Given the description of an element on the screen output the (x, y) to click on. 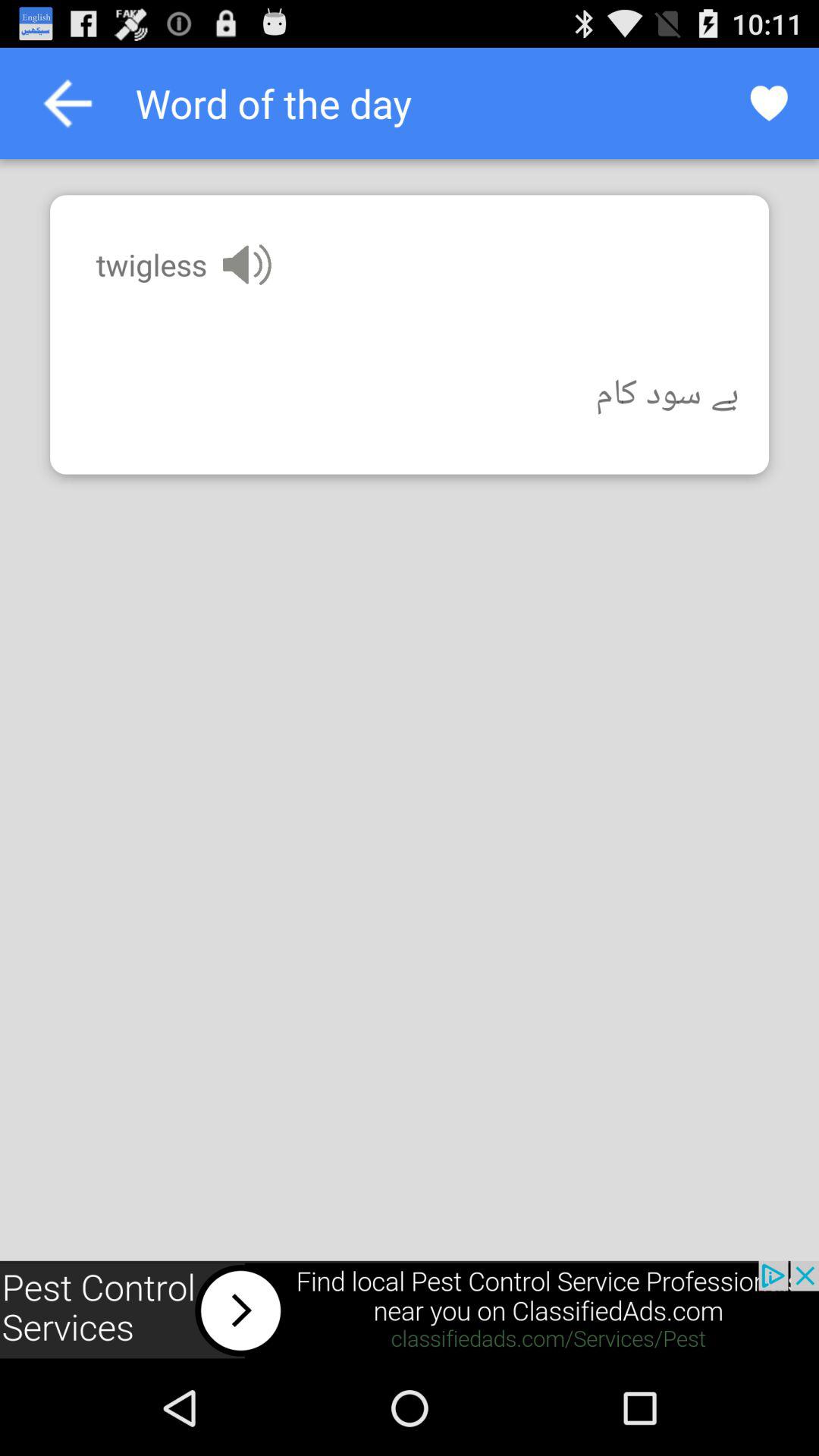
play audio (246, 264)
